Given the description of an element on the screen output the (x, y) to click on. 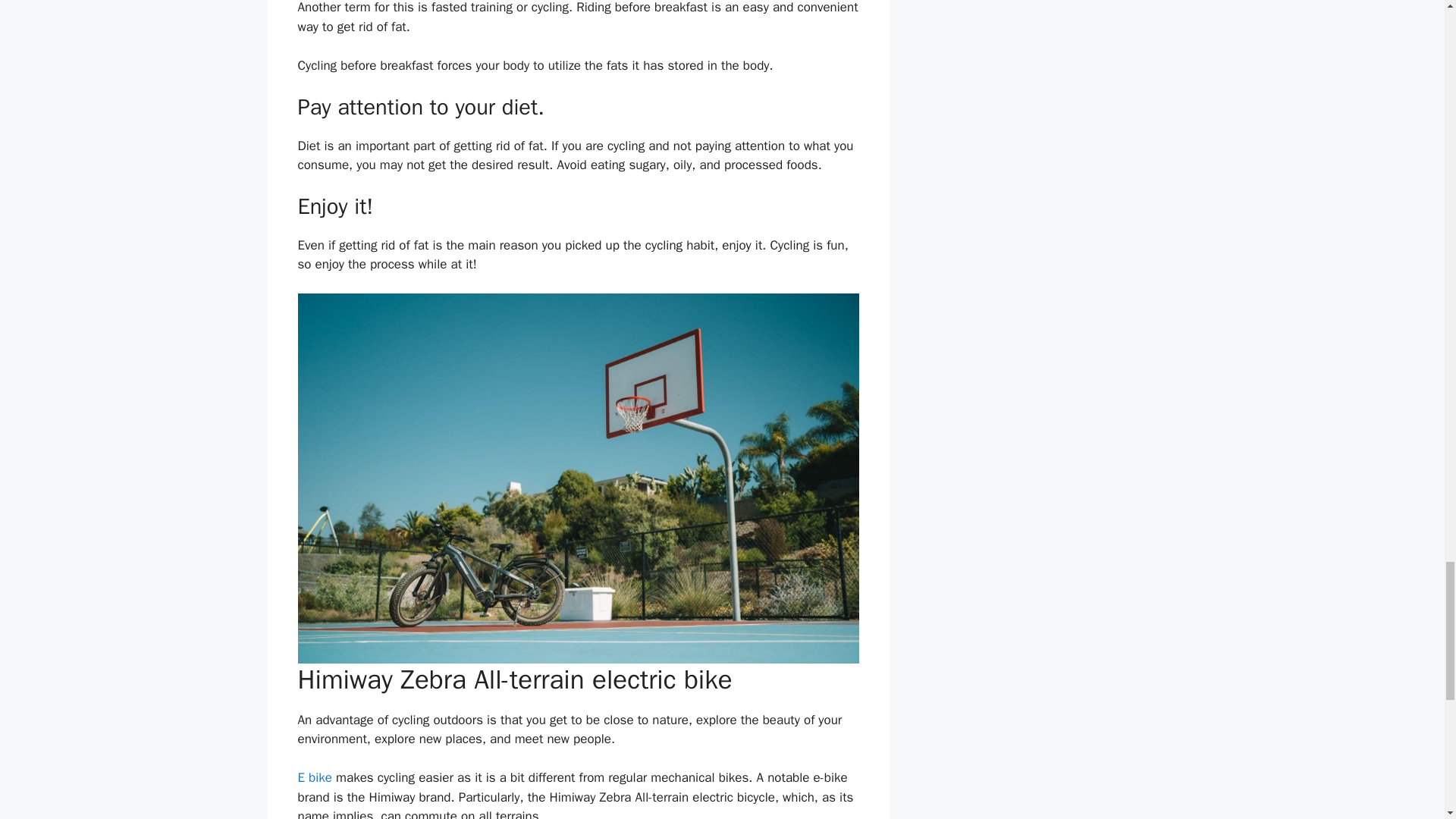
E bike (314, 777)
